Given the description of an element on the screen output the (x, y) to click on. 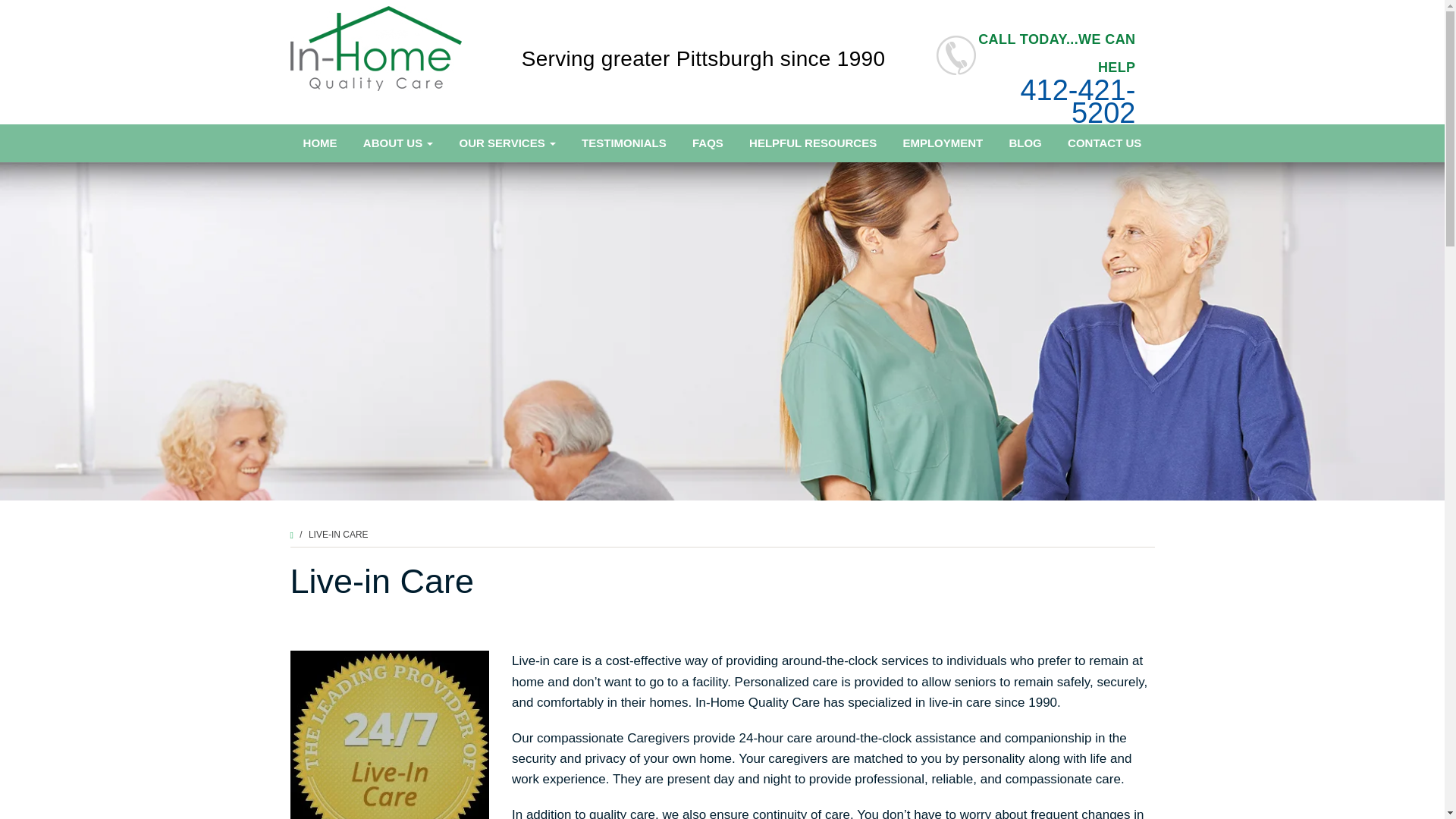
Blog (1024, 143)
FAQs (707, 143)
HELPFUL RESOURCES (812, 143)
Our Services (507, 143)
HOME (319, 143)
OUR SERVICES (507, 143)
ABOUT US (398, 143)
TESTIMONIALS (624, 143)
FAQS (707, 143)
CONTACT US (1104, 143)
